Given the description of an element on the screen output the (x, y) to click on. 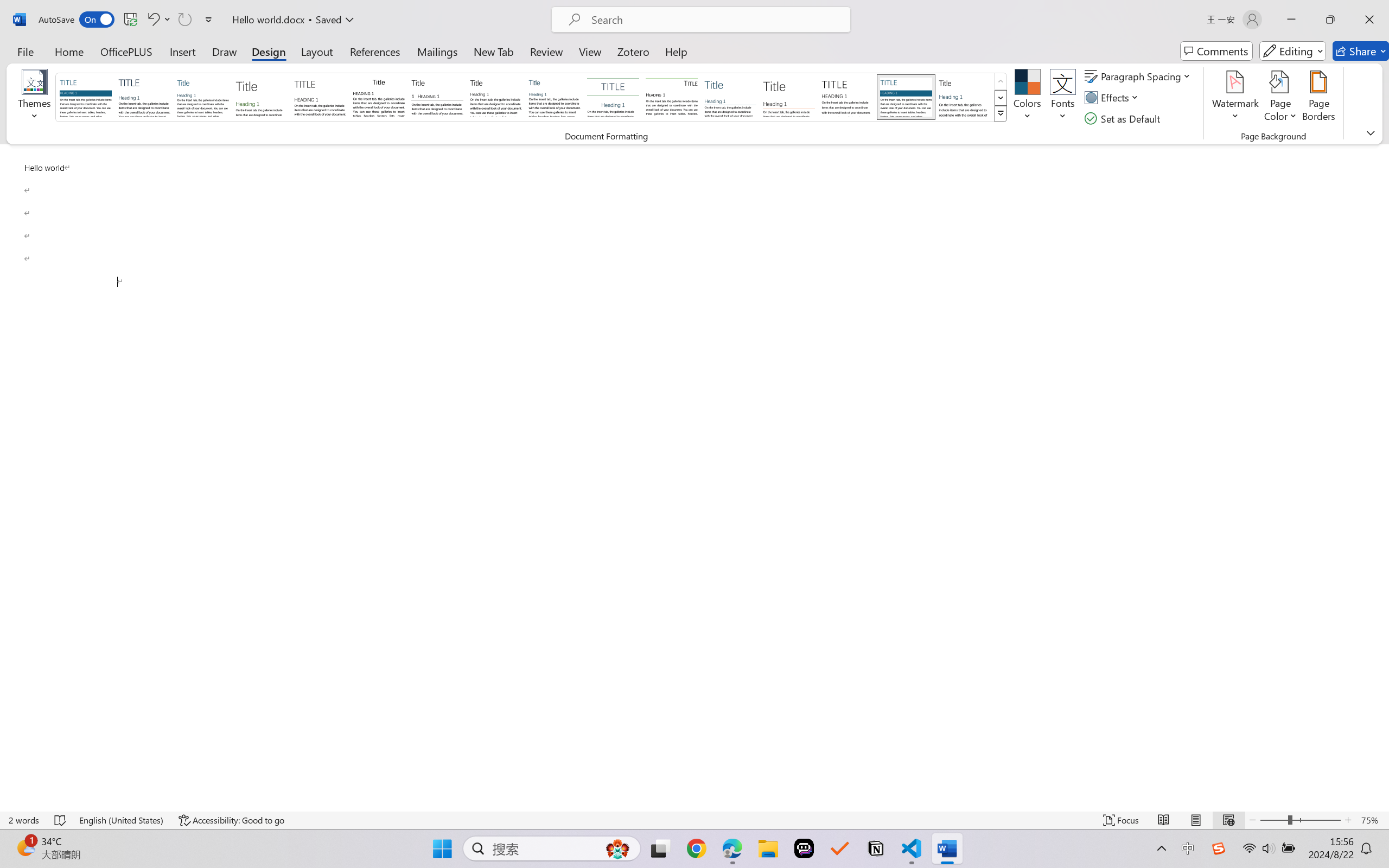
Lines (Stylish) (788, 96)
OfficePLUS (126, 51)
Share (1360, 51)
Class: NetUIImage (1000, 114)
Set as Default (1124, 118)
Can't Repeat (184, 19)
Close (1369, 19)
References (375, 51)
Undo Apply Quick Style Set (152, 19)
AutomationID: DynamicSearchBoxGleamImage (617, 848)
Comments (1216, 50)
Casual (554, 96)
Black & White (Numbered) (437, 96)
Watermark (1235, 97)
Undo Apply Quick Style Set (158, 19)
